Given the description of an element on the screen output the (x, y) to click on. 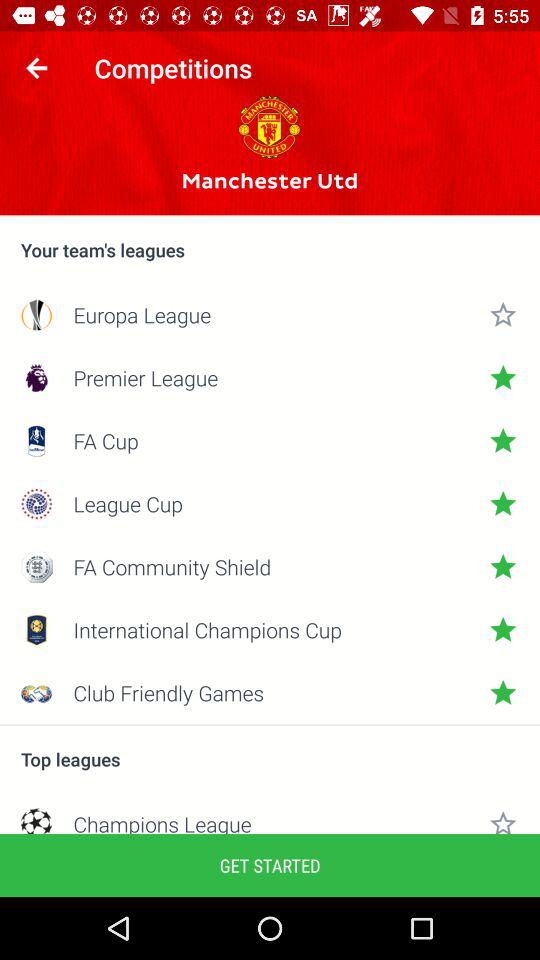
choose icon below the your team s (269, 314)
